Given the description of an element on the screen output the (x, y) to click on. 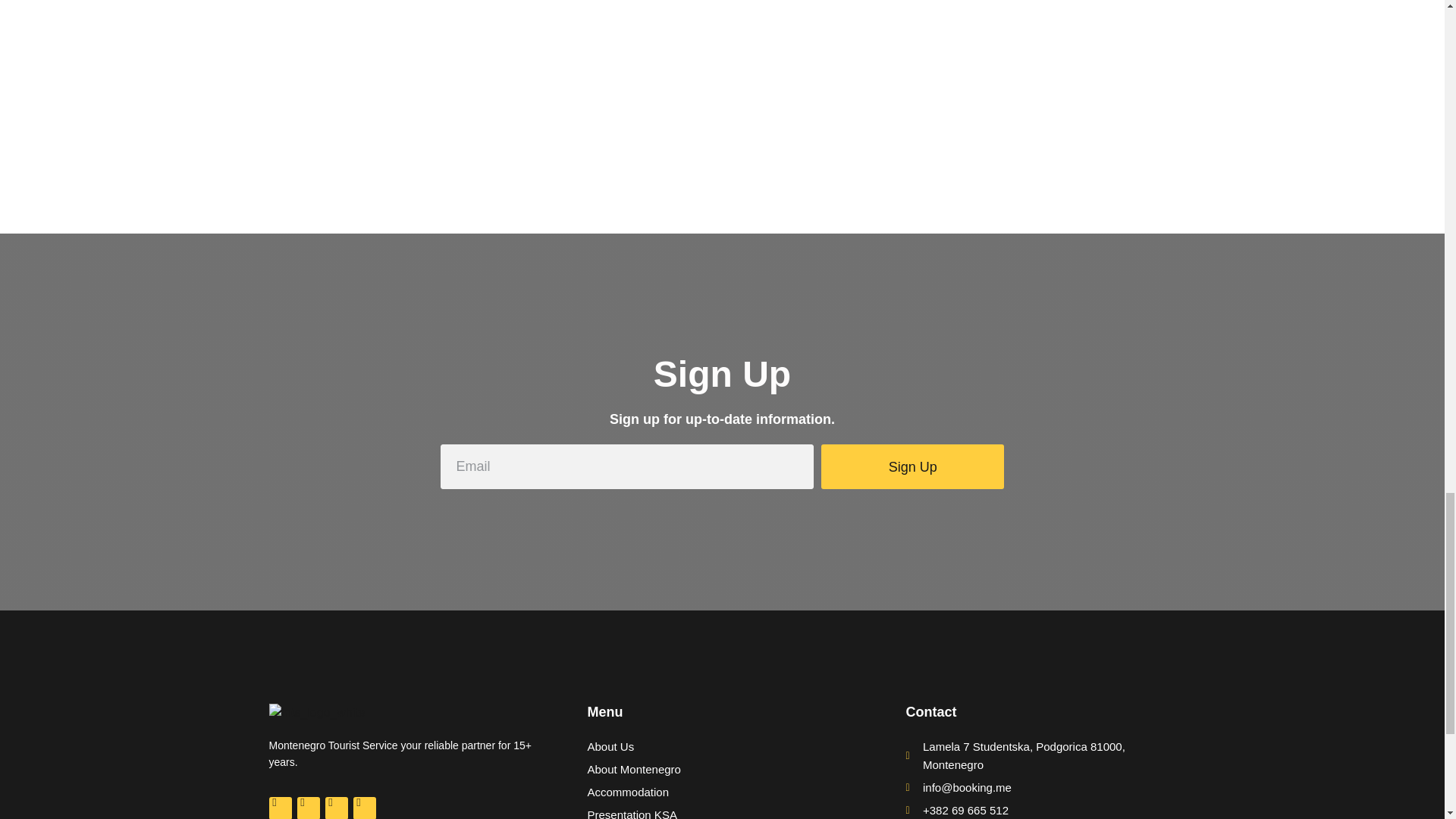
About Montenegro (721, 769)
Sign Up (912, 466)
About Us (721, 746)
